Given the description of an element on the screen output the (x, y) to click on. 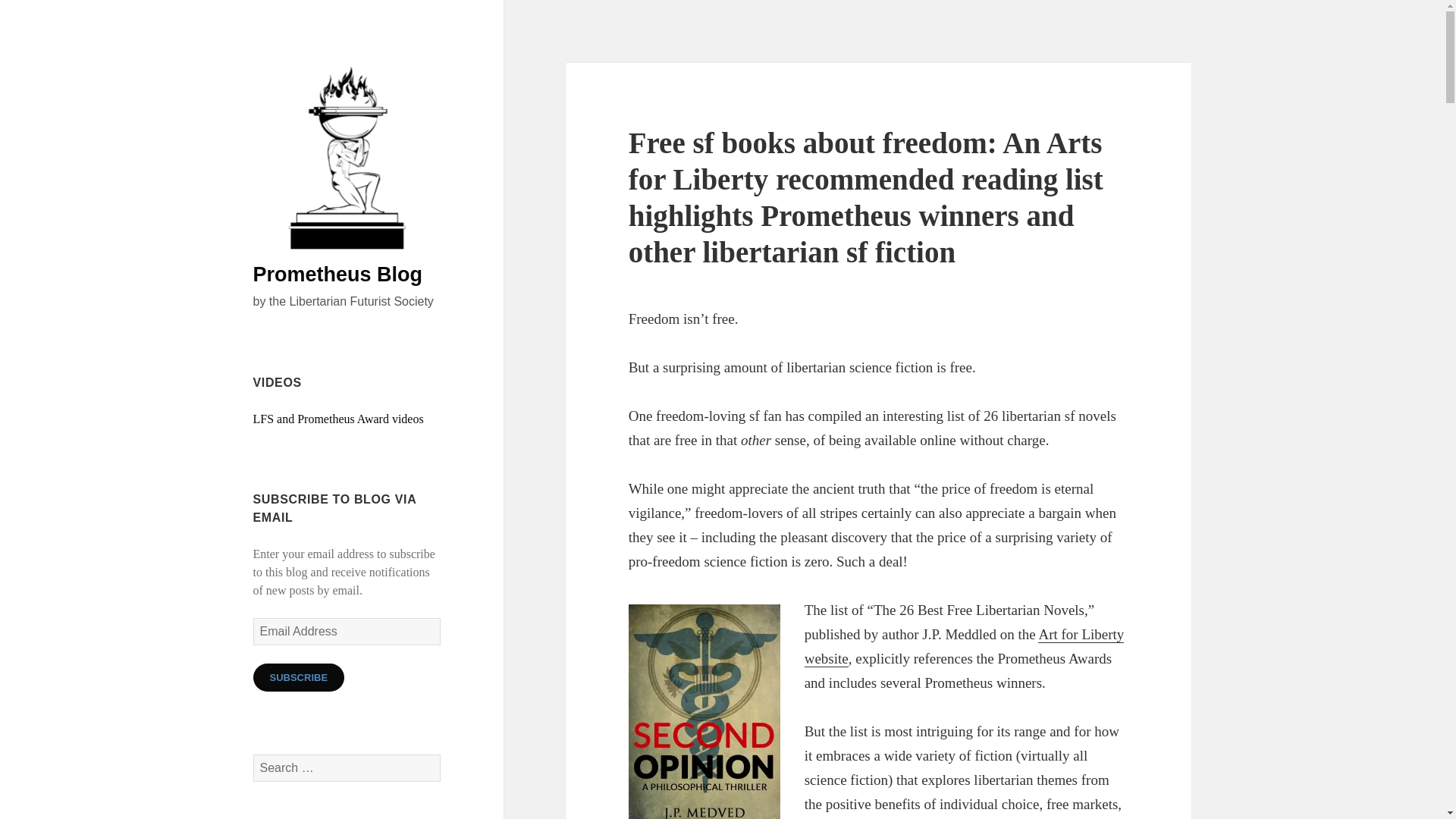
Prometheus Blog (338, 273)
LFS and Prometheus Award videos (338, 418)
SUBSCRIBE (299, 677)
